Given the description of an element on the screen output the (x, y) to click on. 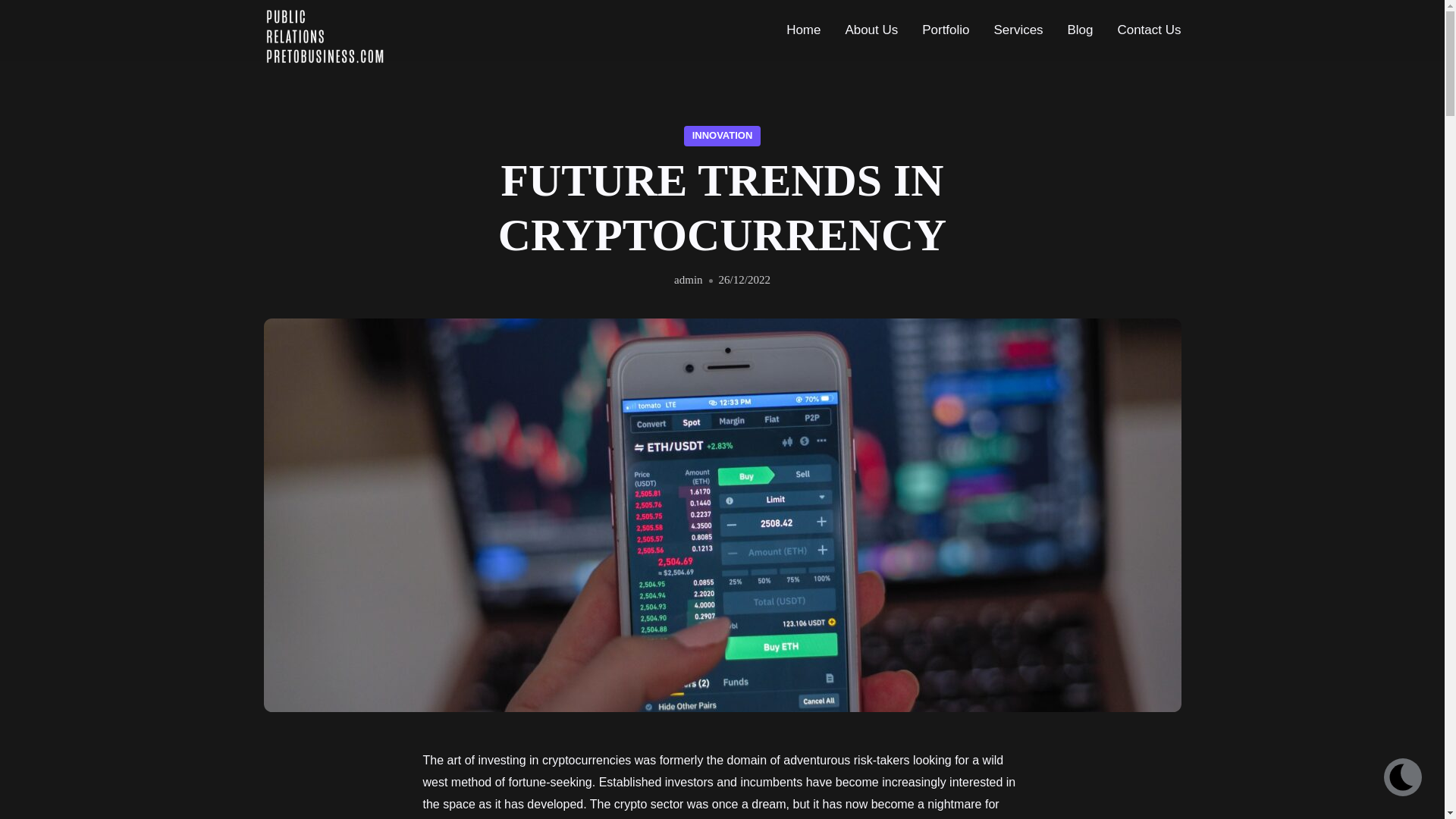
About Us (871, 30)
Blog (1080, 30)
Portfolio (945, 30)
Contact Us (1142, 30)
Services (1017, 30)
INNOVATION (722, 134)
Home (803, 30)
